Given the description of an element on the screen output the (x, y) to click on. 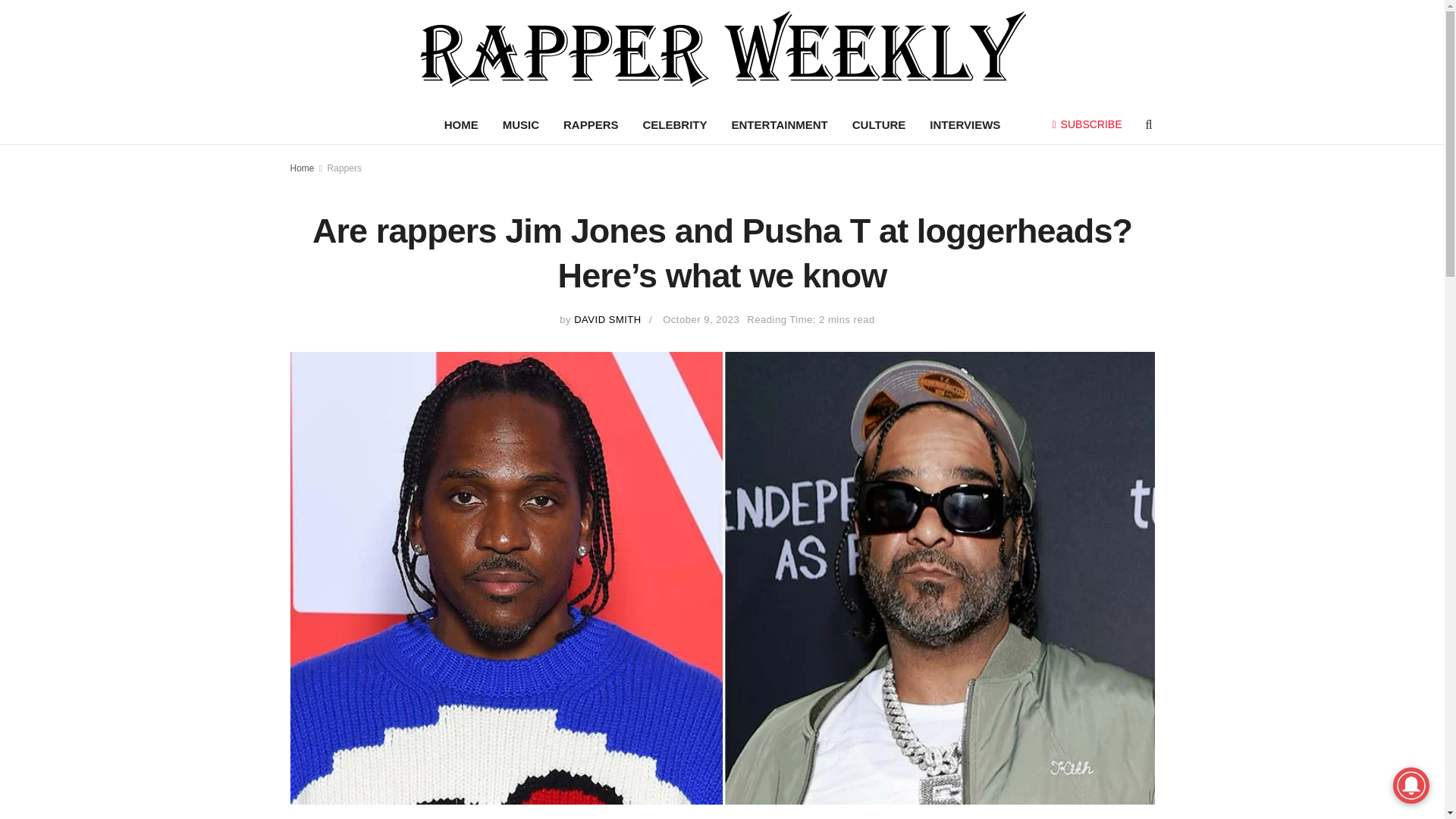
ENTERTAINMENT (779, 125)
DAVID SMITH (607, 319)
CELEBRITY (674, 125)
RAPPERS (590, 125)
HOME (461, 125)
Rappers (344, 167)
INTERVIEWS (964, 125)
CULTURE (879, 125)
MUSIC (520, 125)
SUBSCRIBE (1087, 123)
Home (301, 167)
October 9, 2023 (700, 319)
